Given the description of an element on the screen output the (x, y) to click on. 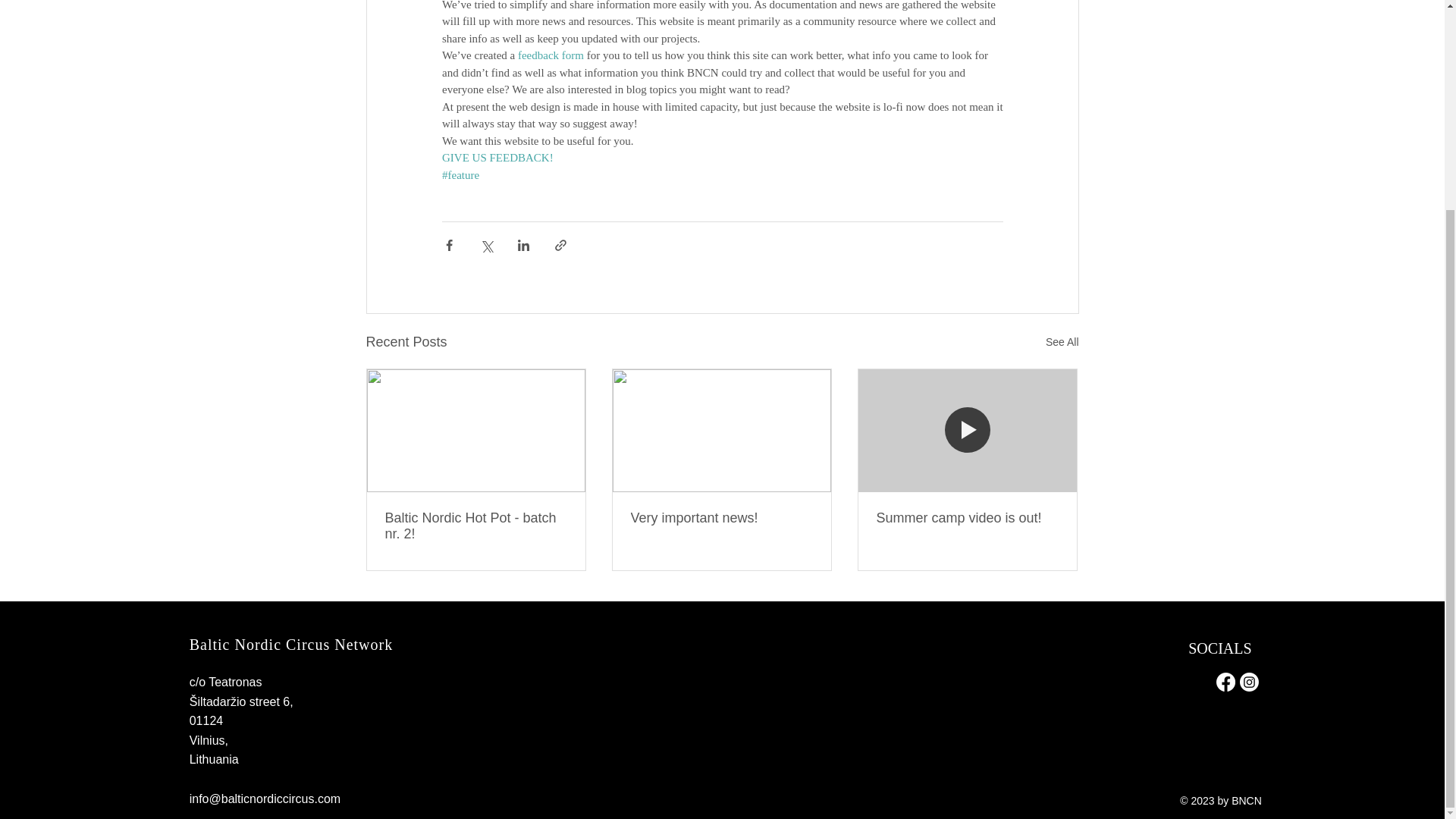
GIVE US FEEDBACK! (497, 157)
feedback form (549, 55)
